Given the description of an element on the screen output the (x, y) to click on. 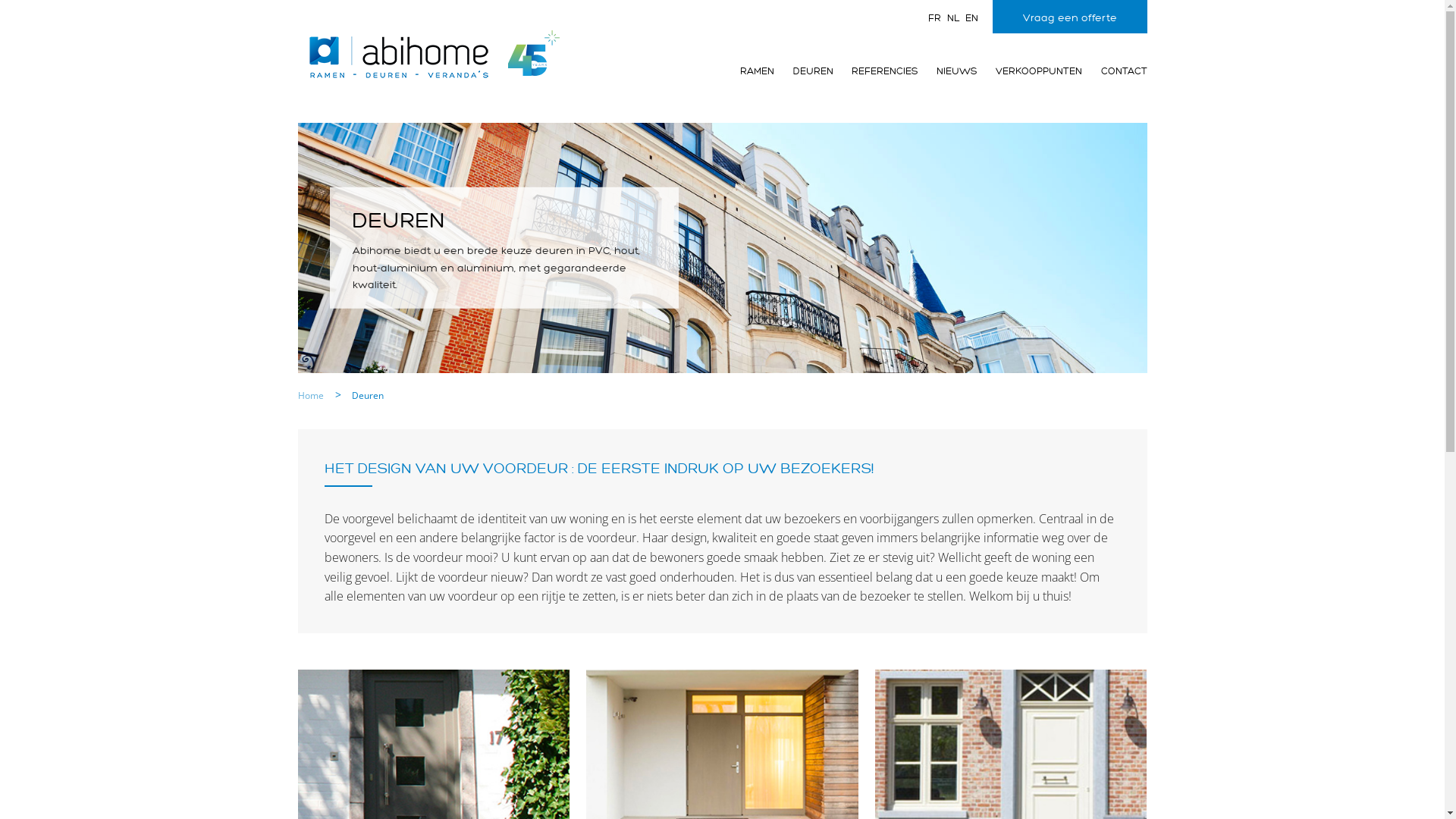
EN Element type: text (970, 17)
NL Element type: text (952, 17)
CONTACT Element type: text (1114, 71)
RAMEN Element type: text (747, 71)
REFERENCIES Element type: text (875, 71)
FR Element type: text (934, 17)
VERKOOPPUNTEN Element type: text (1029, 71)
Home Element type: text (311, 395)
Deuren Element type: text (367, 395)
DEUREN Element type: text (803, 71)
Vraag een offerte Element type: text (1068, 16)
NIEUWS Element type: text (946, 71)
